Given the description of an element on the screen output the (x, y) to click on. 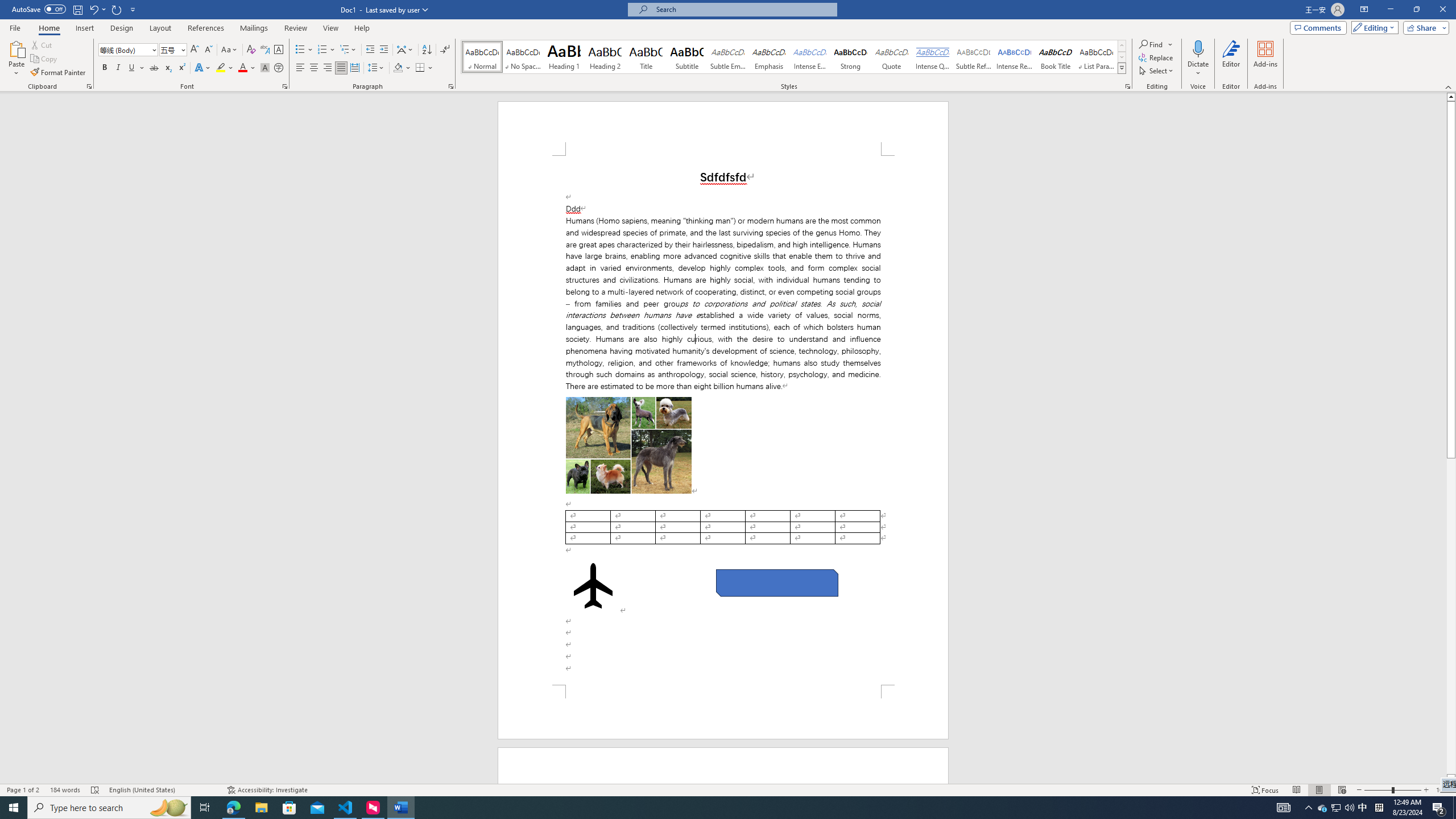
Character Shading (264, 67)
Editor (1231, 58)
Intense Quote (932, 56)
Airplane with solid fill (593, 585)
Page down (1450, 615)
Show/Hide Editing Marks (444, 49)
Clear Formatting (250, 49)
